Given the description of an element on the screen output the (x, y) to click on. 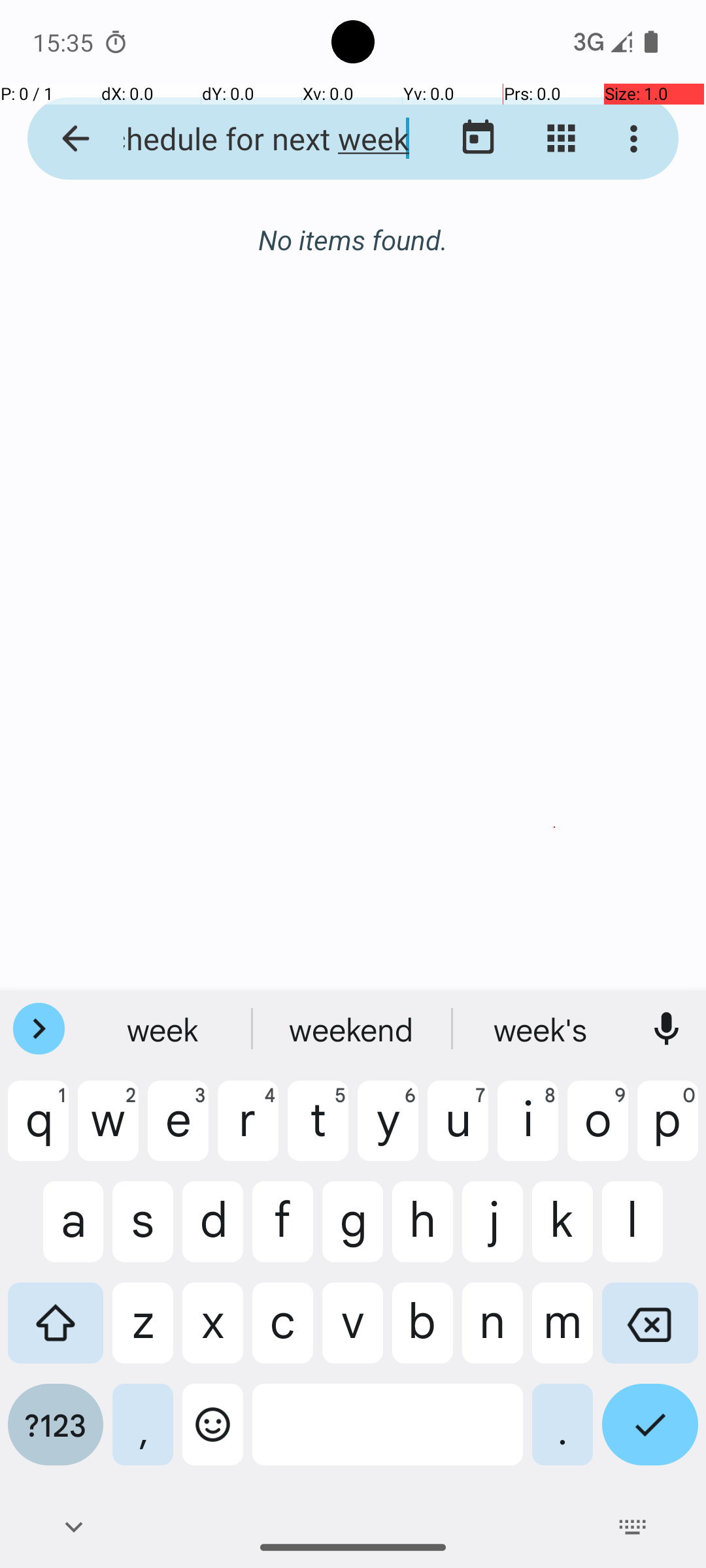
meeting schedule for next week Element type: android.widget.EditText (252, 138)
September Element type: android.widget.TextView (352, 239)
wee Element type: android.widget.FrameLayout (163, 1028)
week Element type: android.widget.FrameLayout (352, 1028)
weekend Element type: android.widget.FrameLayout (541, 1028)
